Given the description of an element on the screen output the (x, y) to click on. 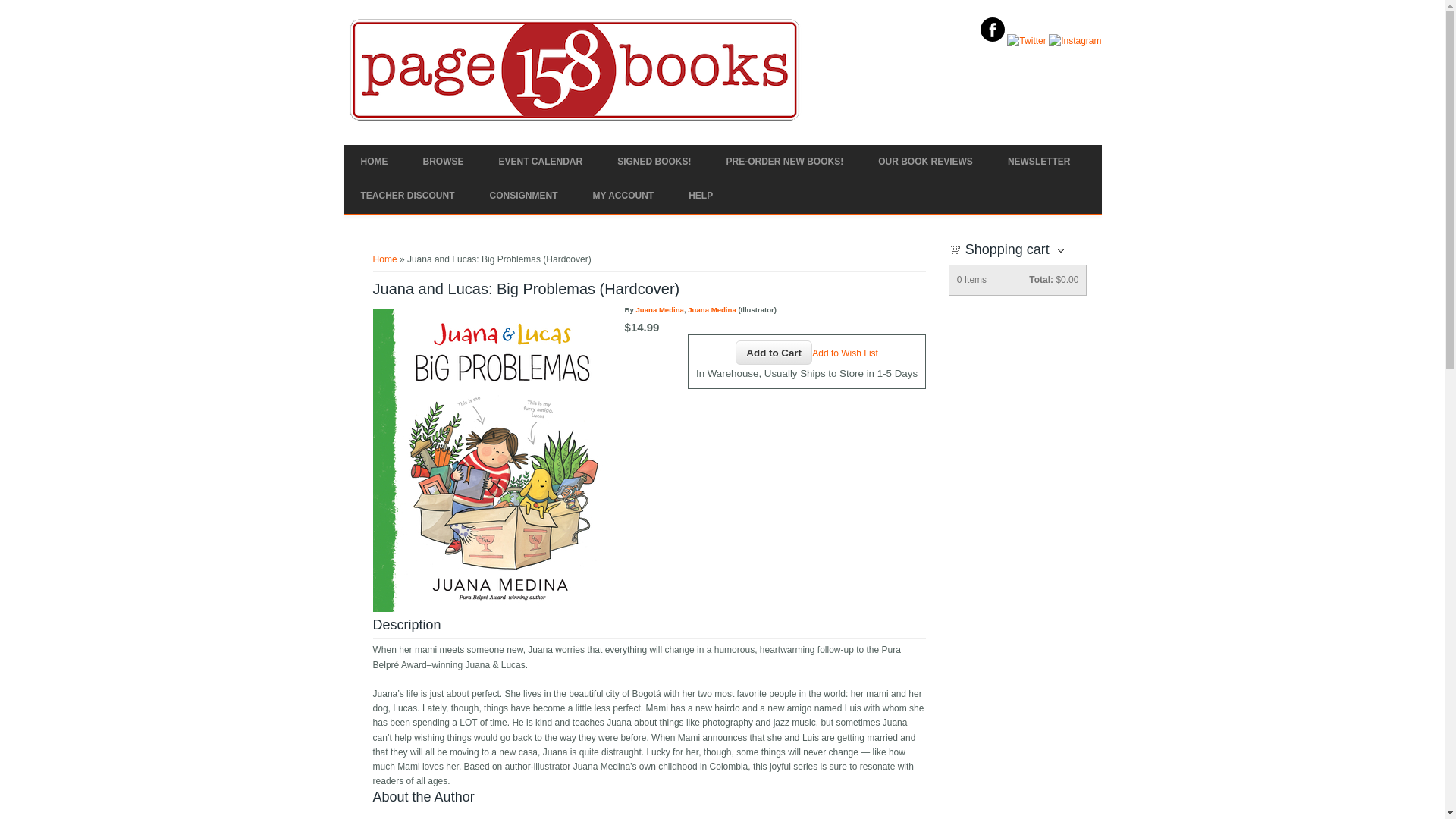
Pre-order your favorite new books here! (785, 161)
Home page (373, 161)
Add to Cart (773, 352)
PRE-ORDER NEW BOOKS! (785, 161)
BROWSE (442, 161)
HELP (700, 195)
SIGNED BOOKS! (653, 161)
Juana Medina (711, 309)
Consignment Information (523, 195)
View your shopping cart. (954, 248)
